Given the description of an element on the screen output the (x, y) to click on. 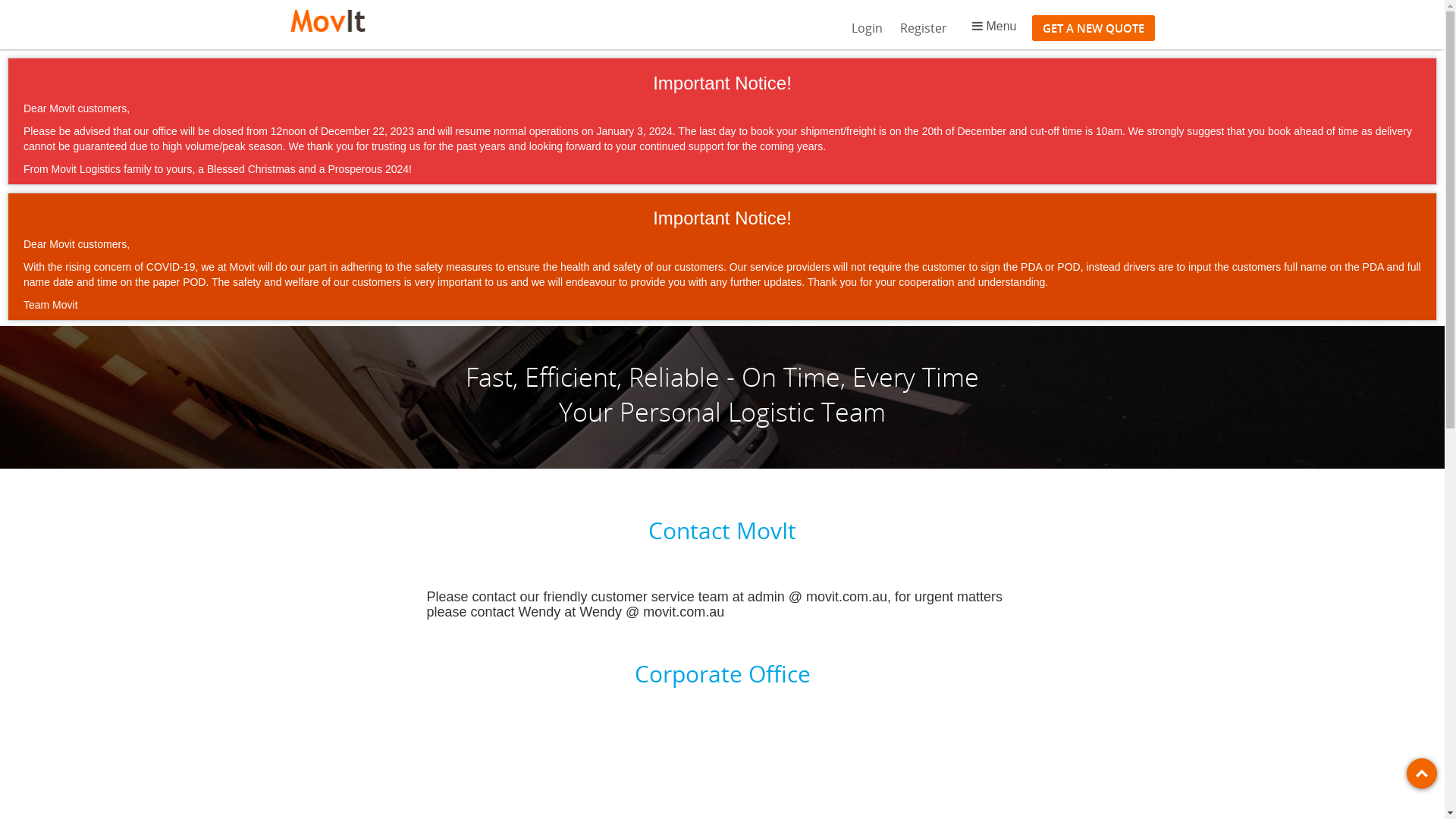
GET A NEW QUOTE Element type: text (1092, 27)
Top Element type: text (1421, 773)
Menu Element type: text (993, 27)
MovIt Element type: hover (326, 22)
Register Element type: text (923, 27)
Login Element type: text (866, 27)
